Given the description of an element on the screen output the (x, y) to click on. 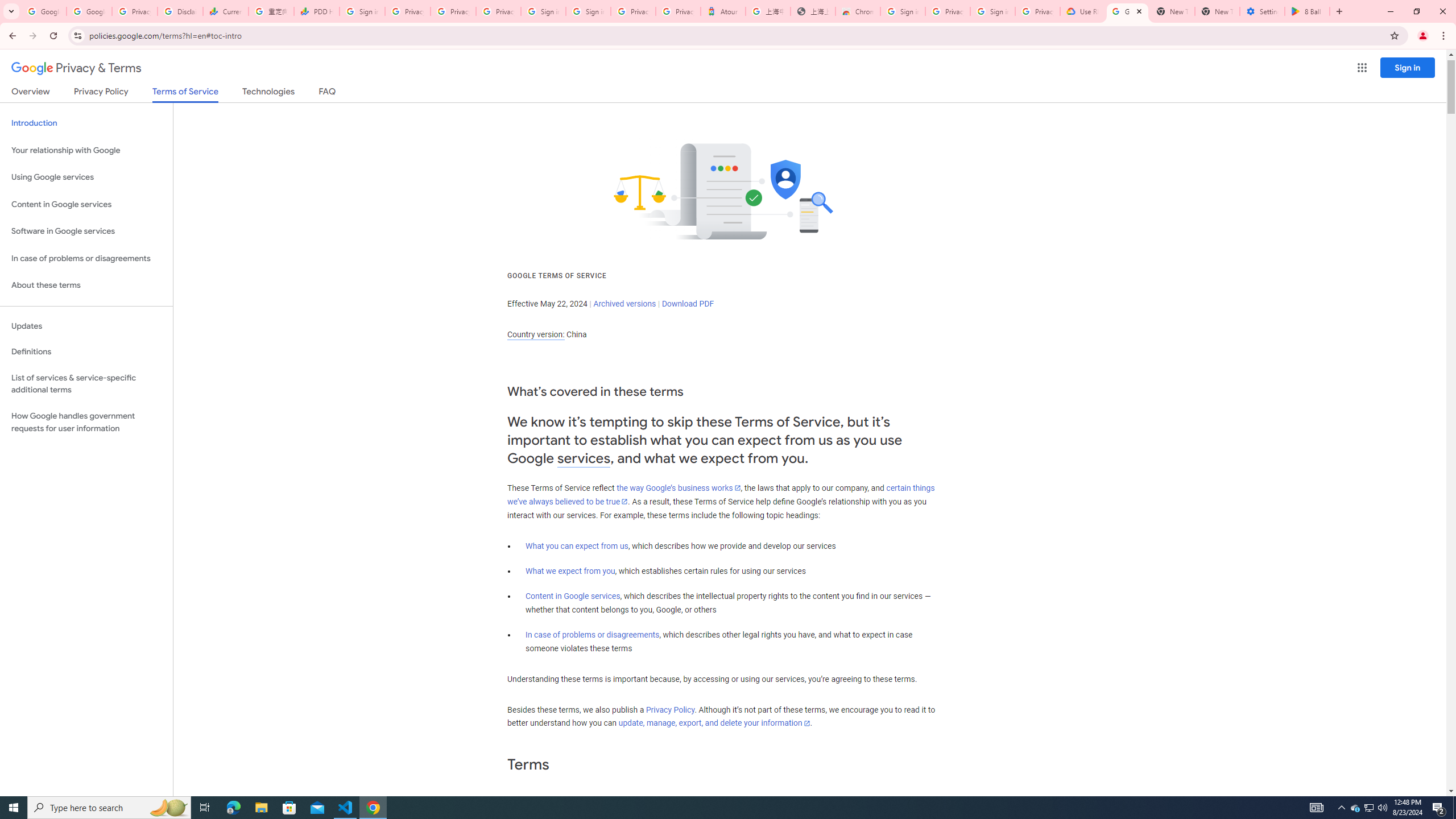
Content in Google services (572, 596)
What we expect from you (570, 570)
Sign in - Google Accounts (902, 11)
Atour Hotel - Google hotels (723, 11)
About these terms (86, 284)
Privacy Checkup (497, 11)
Using Google services (86, 176)
